Given the description of an element on the screen output the (x, y) to click on. 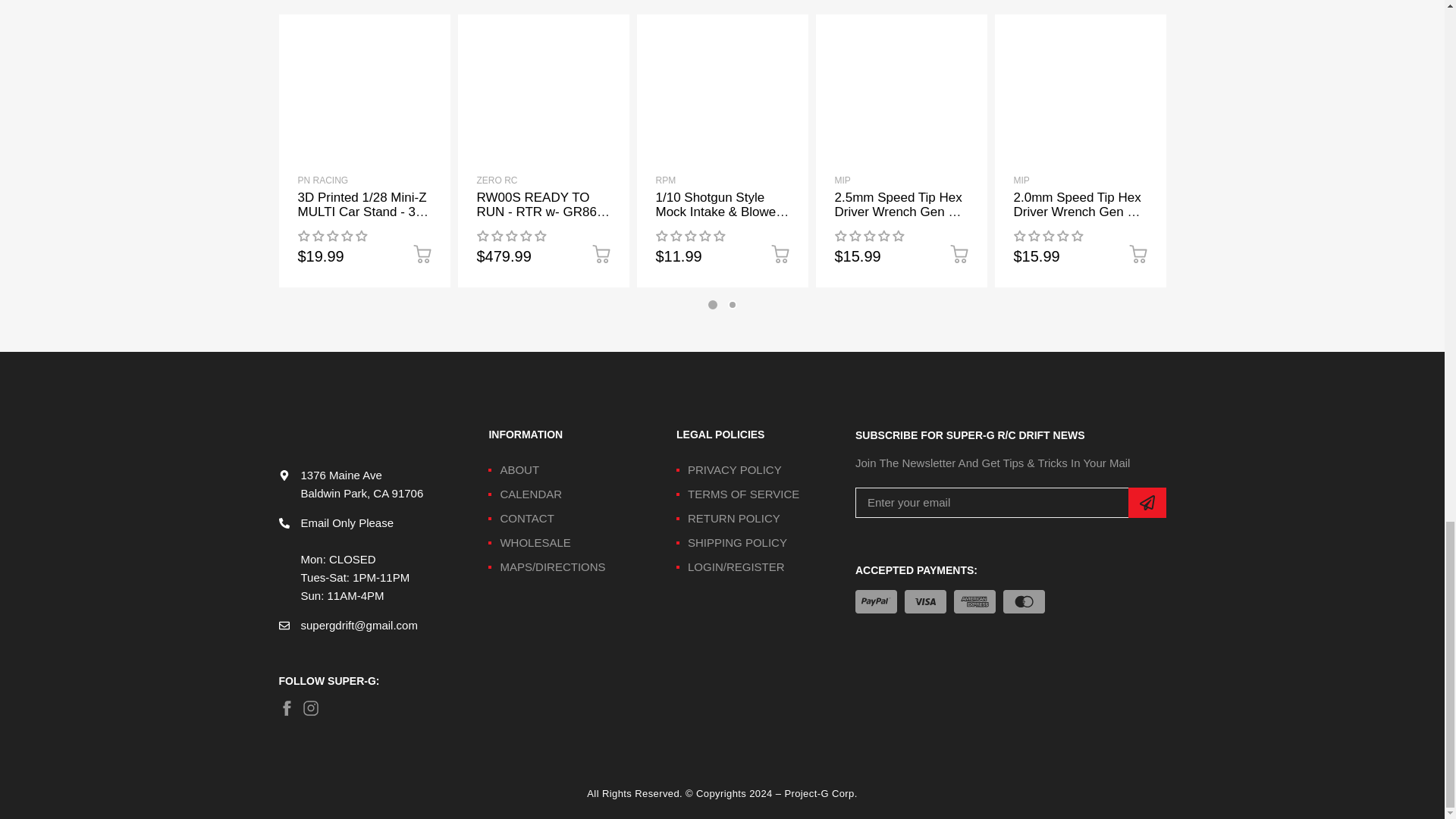
Facebook (286, 708)
PN RACING (322, 180)
Instagram (310, 708)
